Given the description of an element on the screen output the (x, y) to click on. 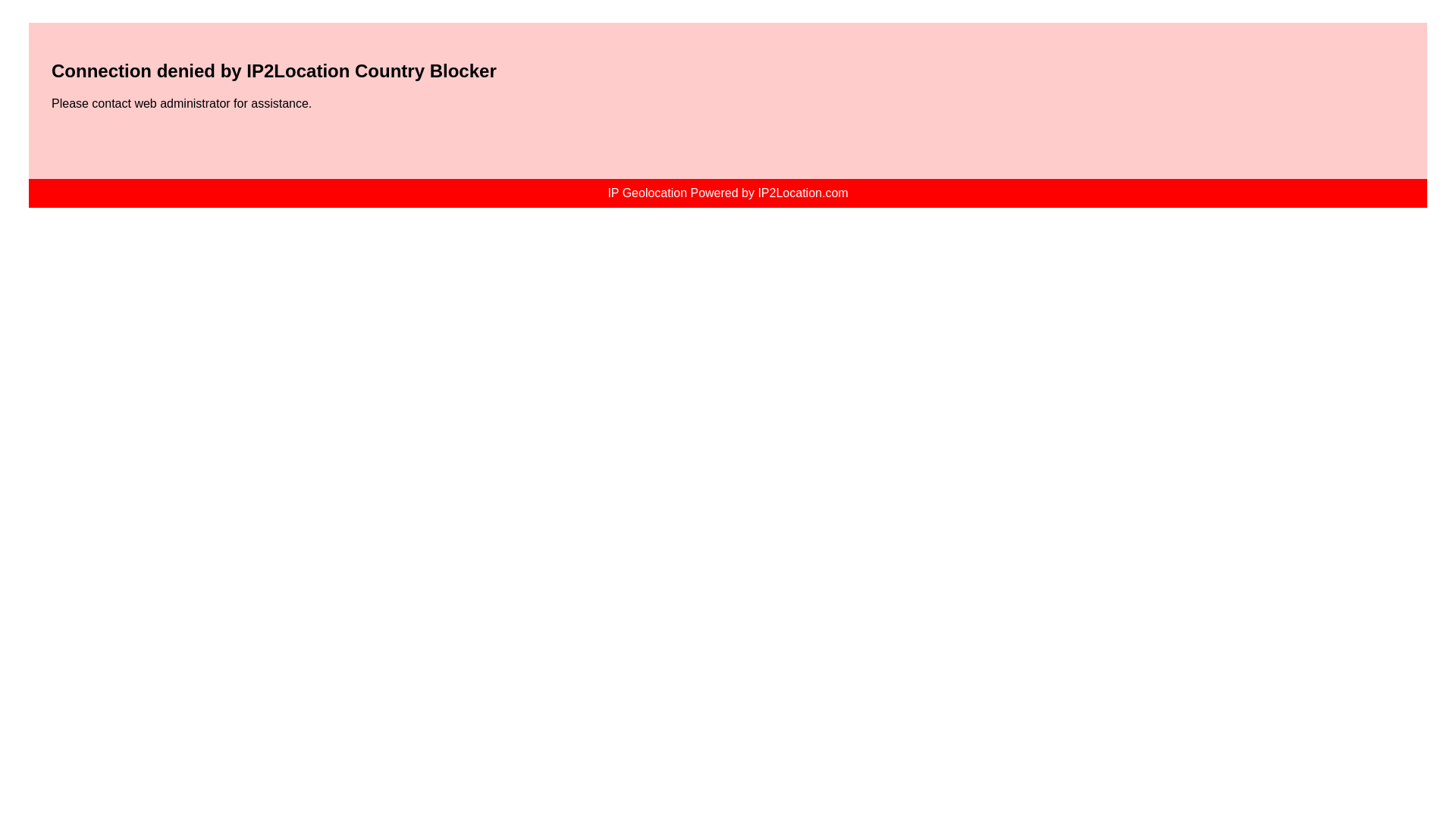
IP Geolocation Powered by IP2Location.com (727, 192)
